Given the description of an element on the screen output the (x, y) to click on. 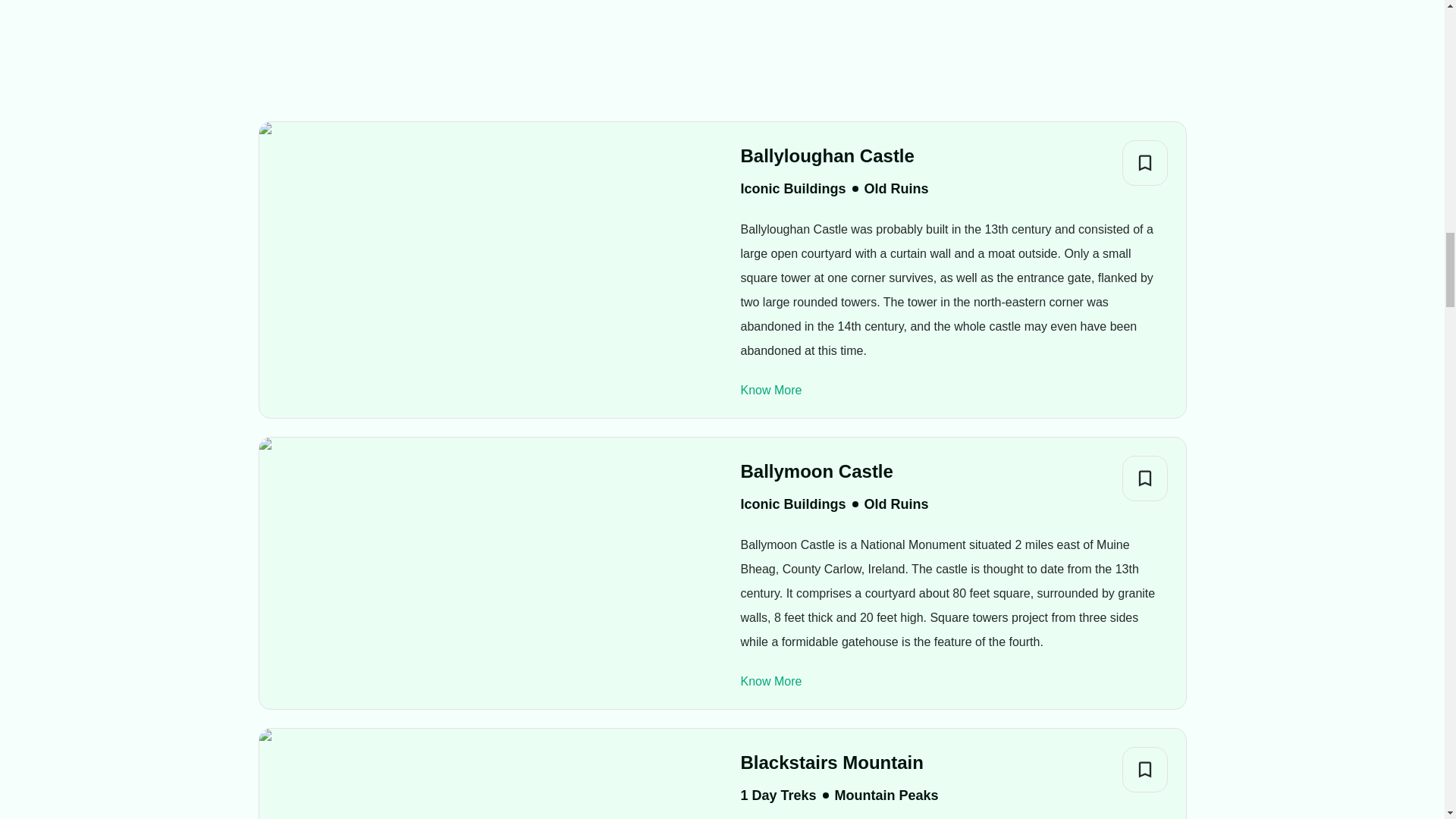
Ballymoon Castle (833, 471)
Add to Bucket List (1144, 162)
Know More (770, 390)
Ballyloughan Castle (833, 155)
Blackstairs Mountain (838, 762)
Add to Bucket List (1144, 769)
Add to Bucket List (1144, 478)
Know More (770, 680)
